Given the description of an element on the screen output the (x, y) to click on. 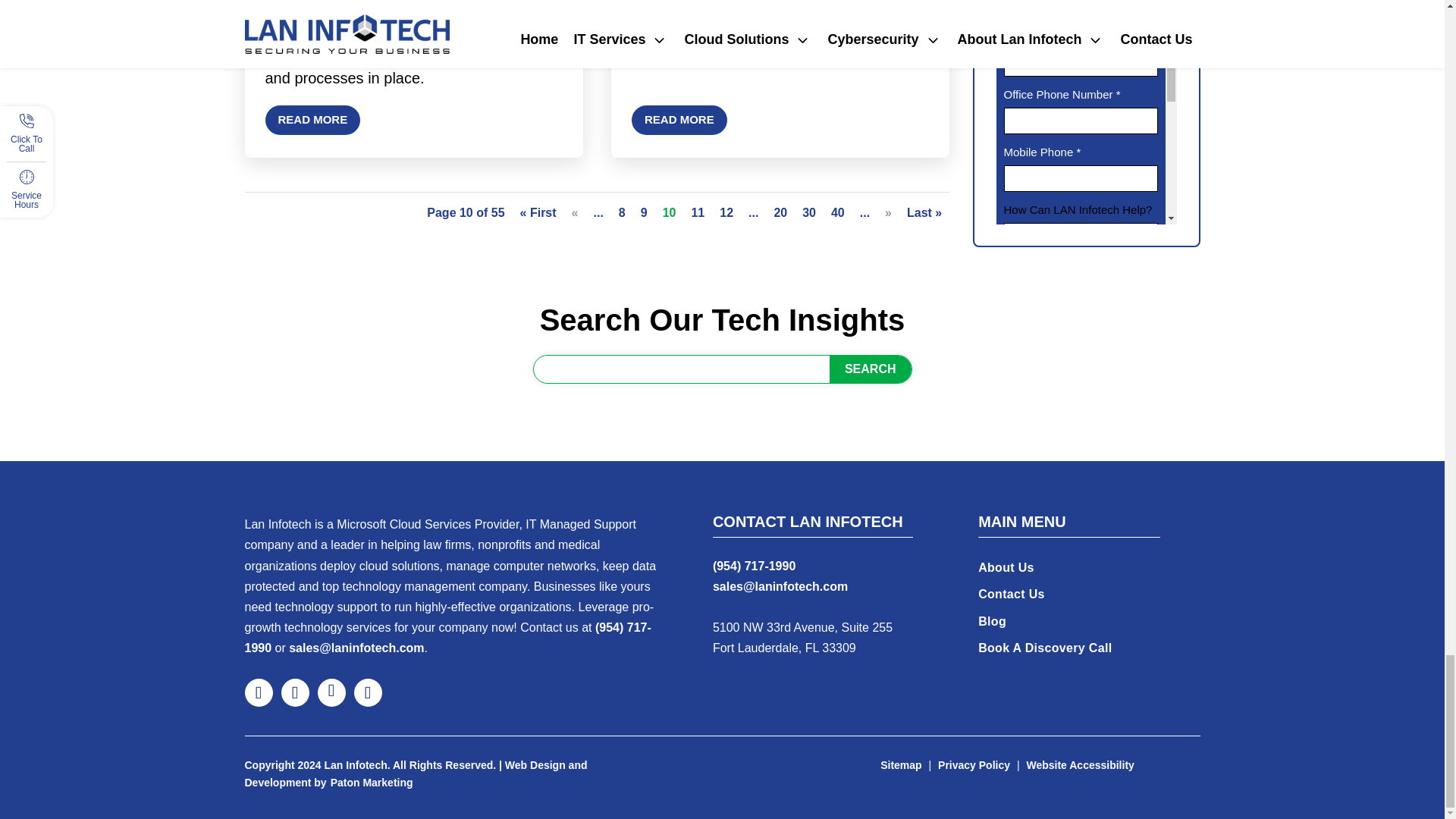
Page 30 (808, 213)
Follow on LinkedIn (331, 692)
Page 20 (780, 213)
Follow on Youtube (367, 692)
Page 12 (726, 213)
Follow on X (294, 692)
Follow on Facebook (258, 692)
Search (870, 369)
Search (870, 369)
Page 11 (697, 213)
